Given the description of an element on the screen output the (x, y) to click on. 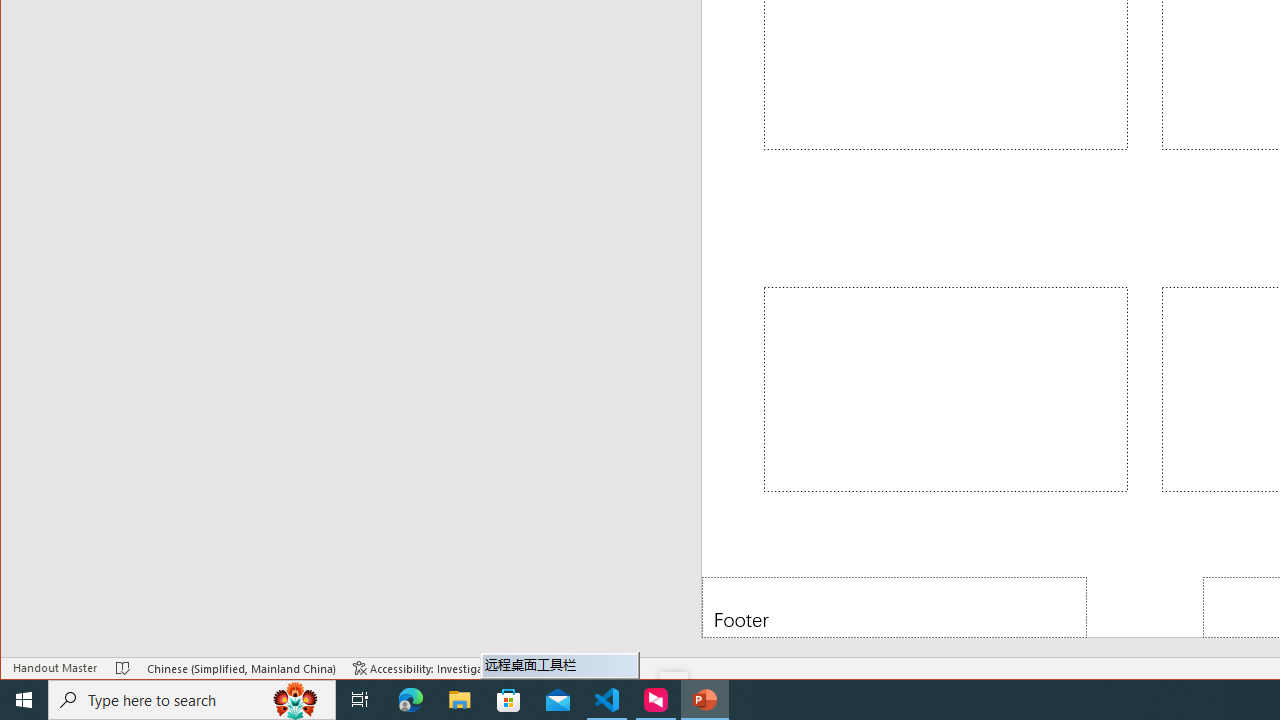
Footer (893, 606)
